Given the description of an element on the screen output the (x, y) to click on. 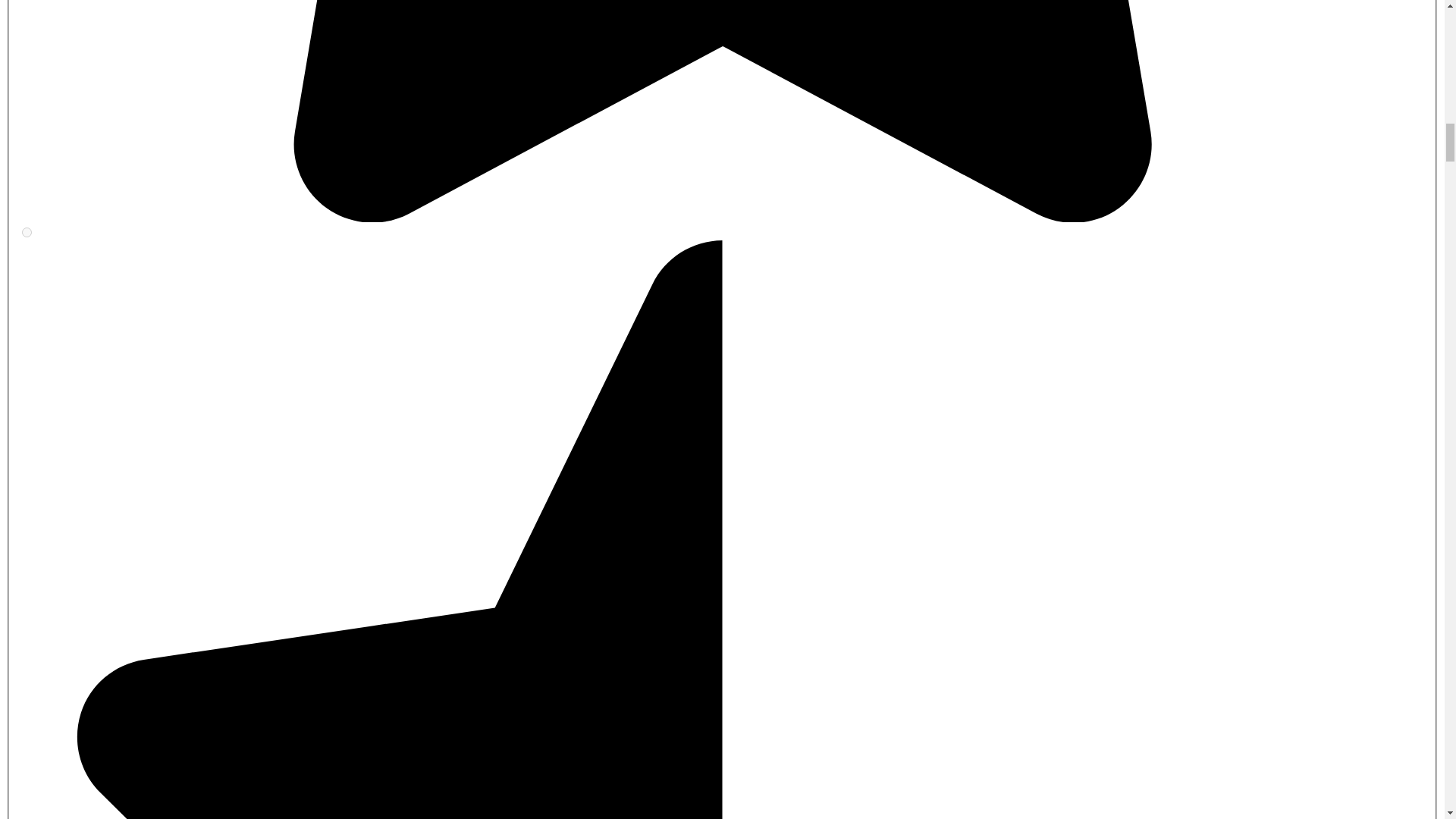
4.5 (26, 232)
